Given the description of an element on the screen output the (x, y) to click on. 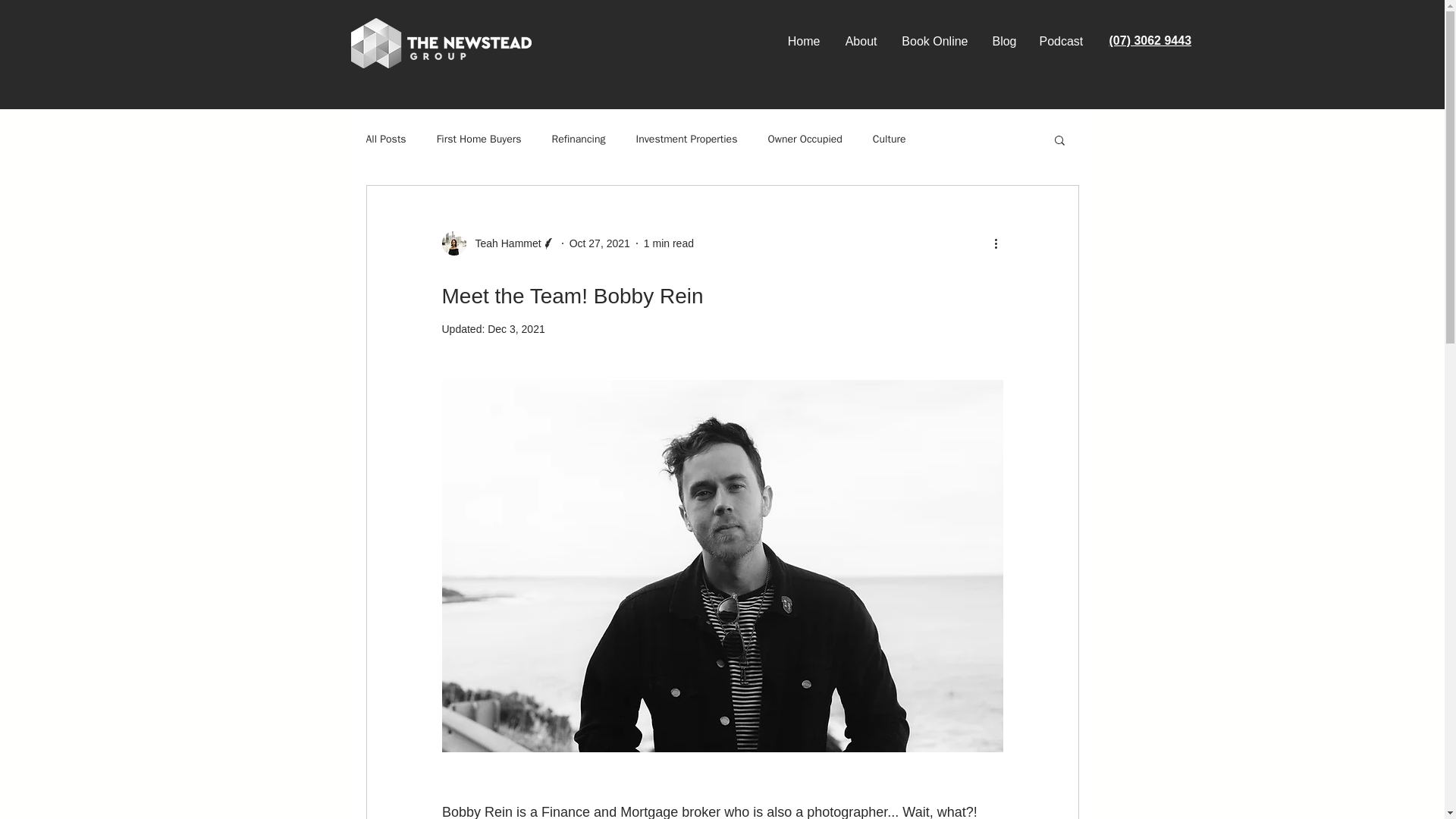
Book Online (933, 41)
All Posts (385, 139)
Oct 27, 2021 (599, 242)
Dec 3, 2021 (515, 328)
Blog (1003, 41)
Teah Hammet (502, 242)
1 min read (668, 242)
Owner Occupied (804, 139)
First Home Buyers (478, 139)
About (859, 41)
Podcast (1060, 41)
Refinancing (578, 139)
Home (802, 41)
Investment Properties (687, 139)
Culture (888, 139)
